Given the description of an element on the screen output the (x, y) to click on. 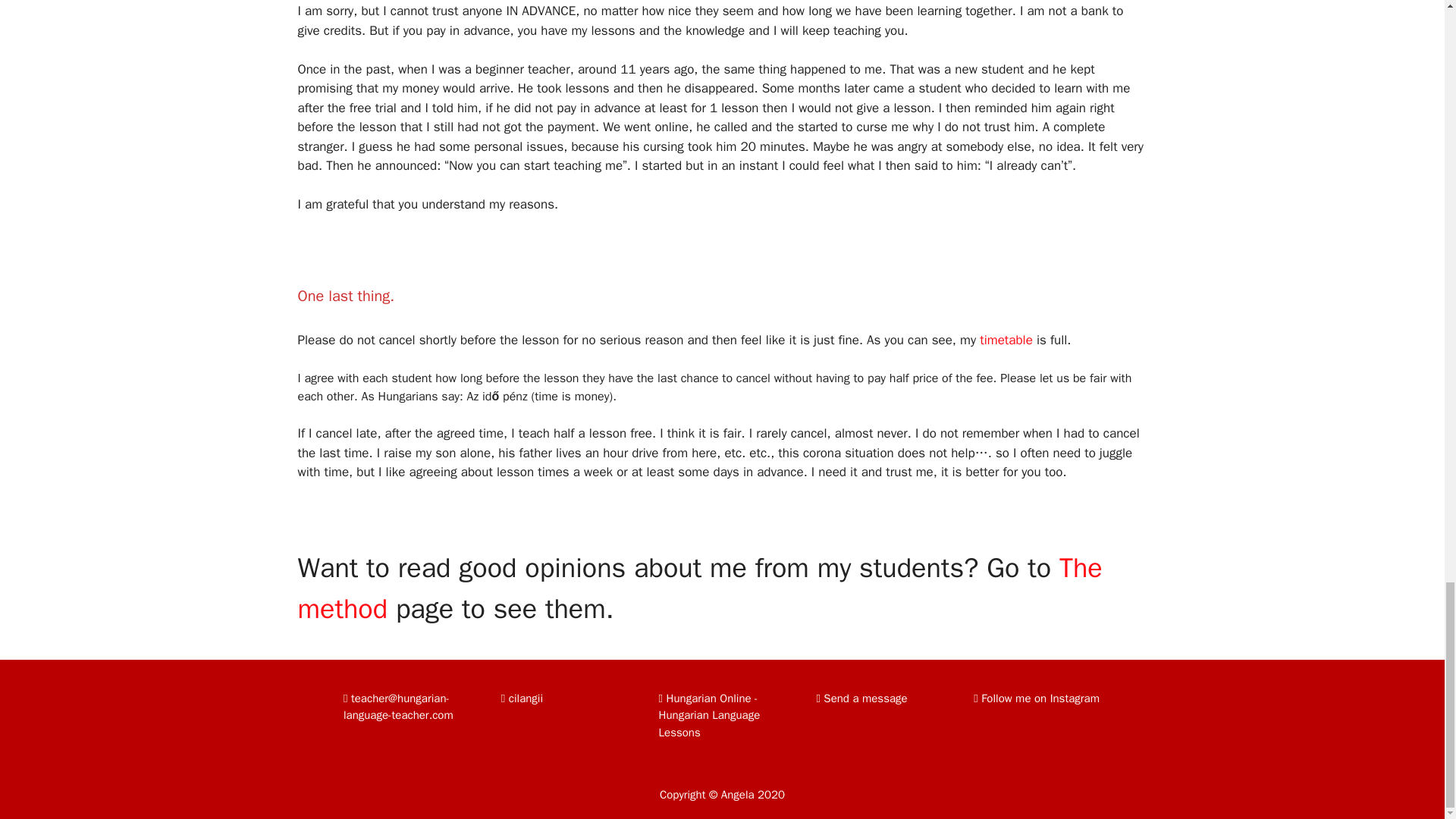
timetable (1007, 340)
The method (699, 588)
Hungarian Online - Hungarian Language Lessons (709, 715)
Send a message (861, 698)
Follow me on Instagram (1036, 698)
